Given the description of an element on the screen output the (x, y) to click on. 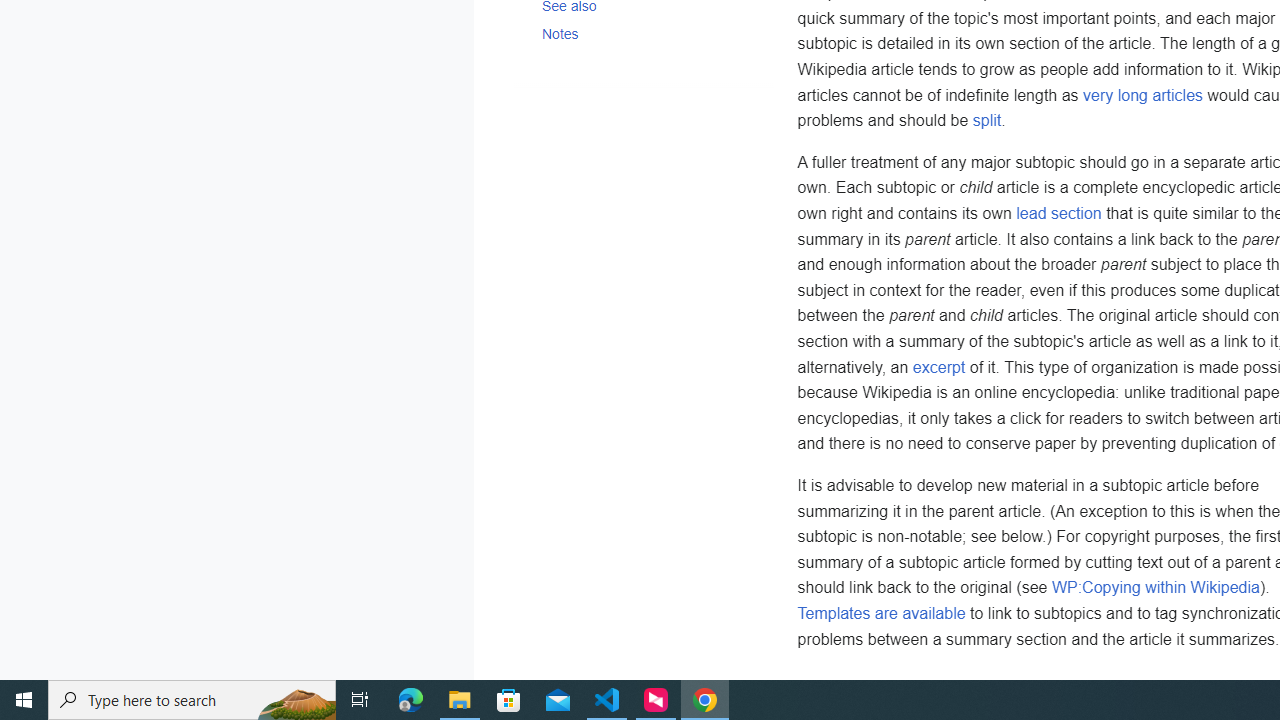
excerpt (938, 366)
Notes (649, 33)
Templates are available (881, 613)
split (986, 121)
WP:Copying within Wikipedia (1154, 587)
lead section (1059, 214)
AutomationID: toc-Notes (642, 33)
very long articles (1143, 94)
